Given the description of an element on the screen output the (x, y) to click on. 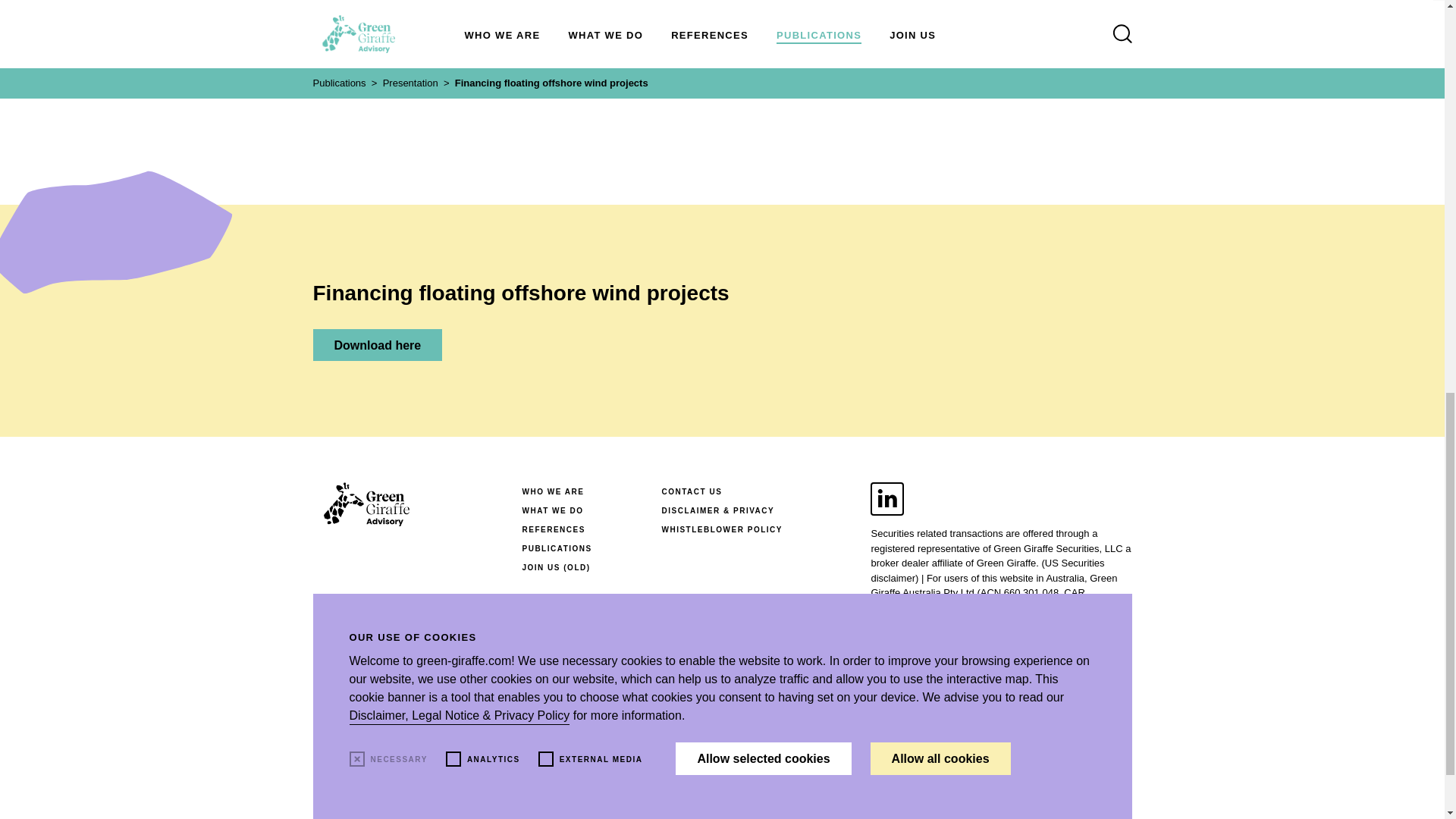
Equity and debt in Taiwan offshore wind (1097, 37)
LinkedIn (887, 498)
Overview (569, 37)
